Given the description of an element on the screen output the (x, y) to click on. 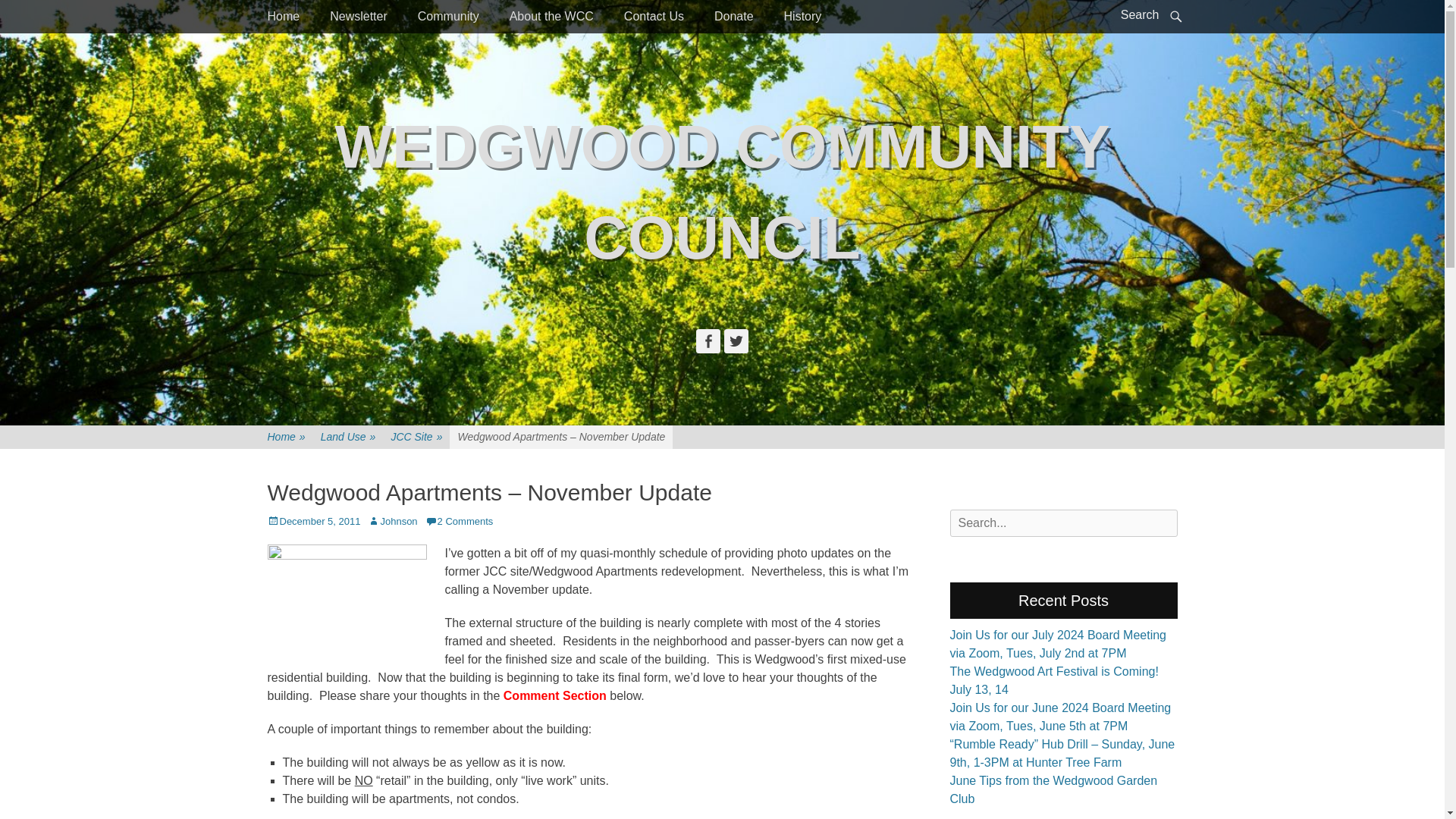
About the WCC (551, 16)
Johnson (392, 521)
Search for: (1062, 523)
December 5, 2011 (312, 521)
Newsletter (358, 16)
Donate (733, 16)
History (802, 16)
Contact Us (653, 16)
Facebook (707, 340)
Community (449, 16)
